Given the description of an element on the screen output the (x, y) to click on. 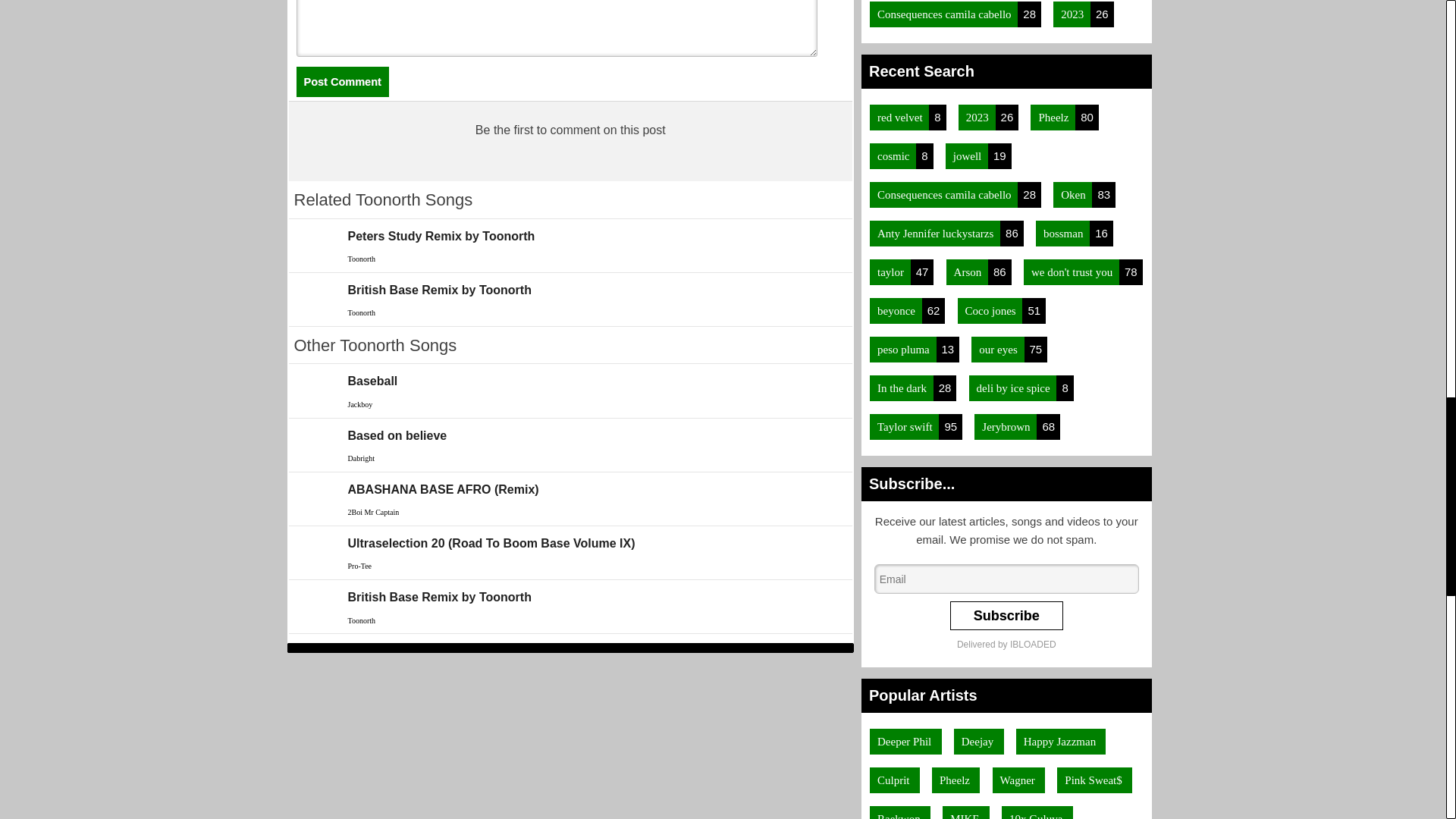
Subscribe (1006, 615)
Post Comment (341, 81)
